Given the description of an element on the screen output the (x, y) to click on. 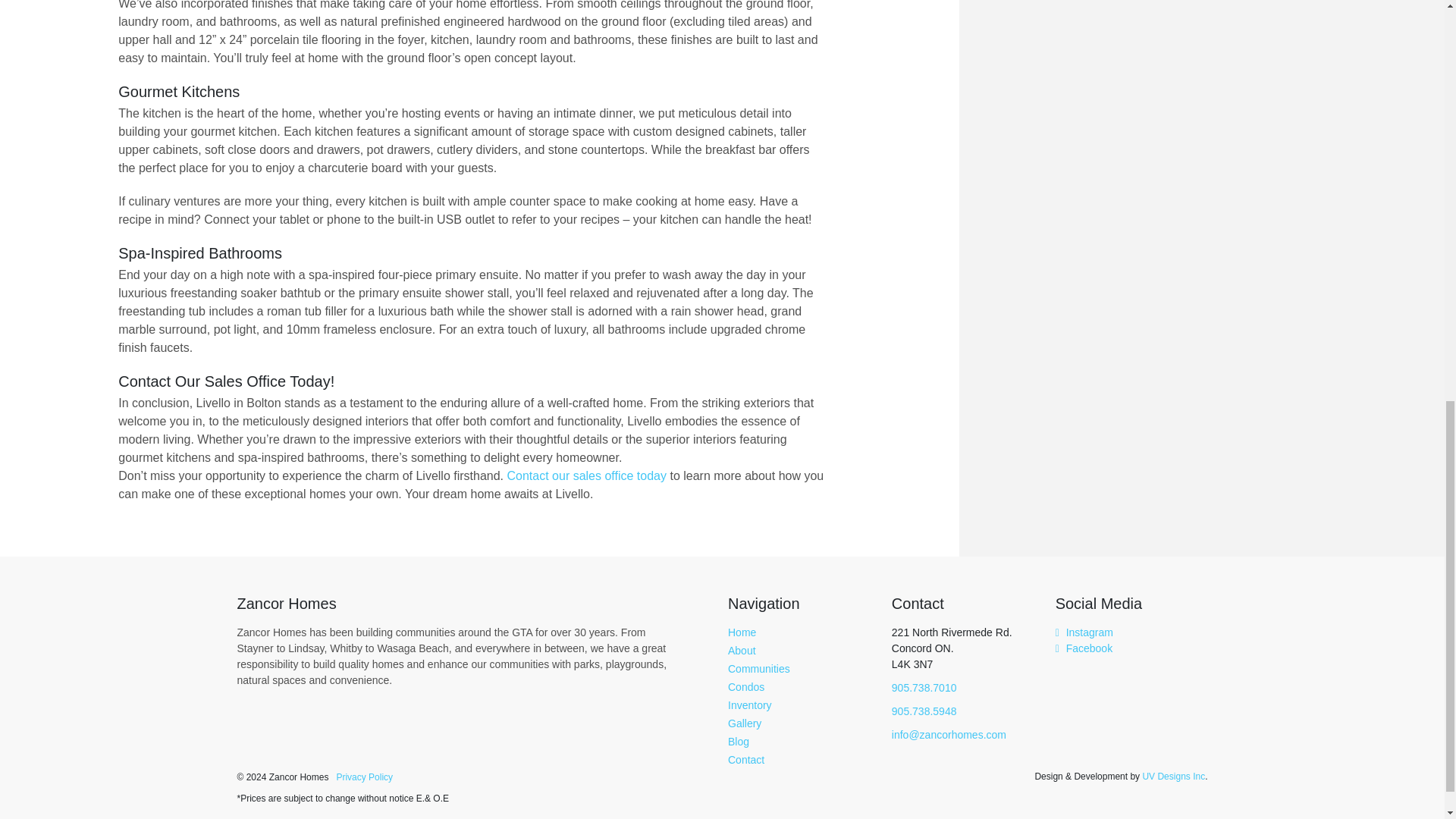
Condos (746, 686)
Inventory (749, 705)
Web Design Toronto (1173, 775)
Contact our sales office today (586, 474)
Home (741, 632)
Communities (759, 668)
Blog (738, 741)
Contact (746, 759)
Gallery (744, 723)
About (741, 650)
